Given the description of an element on the screen output the (x, y) to click on. 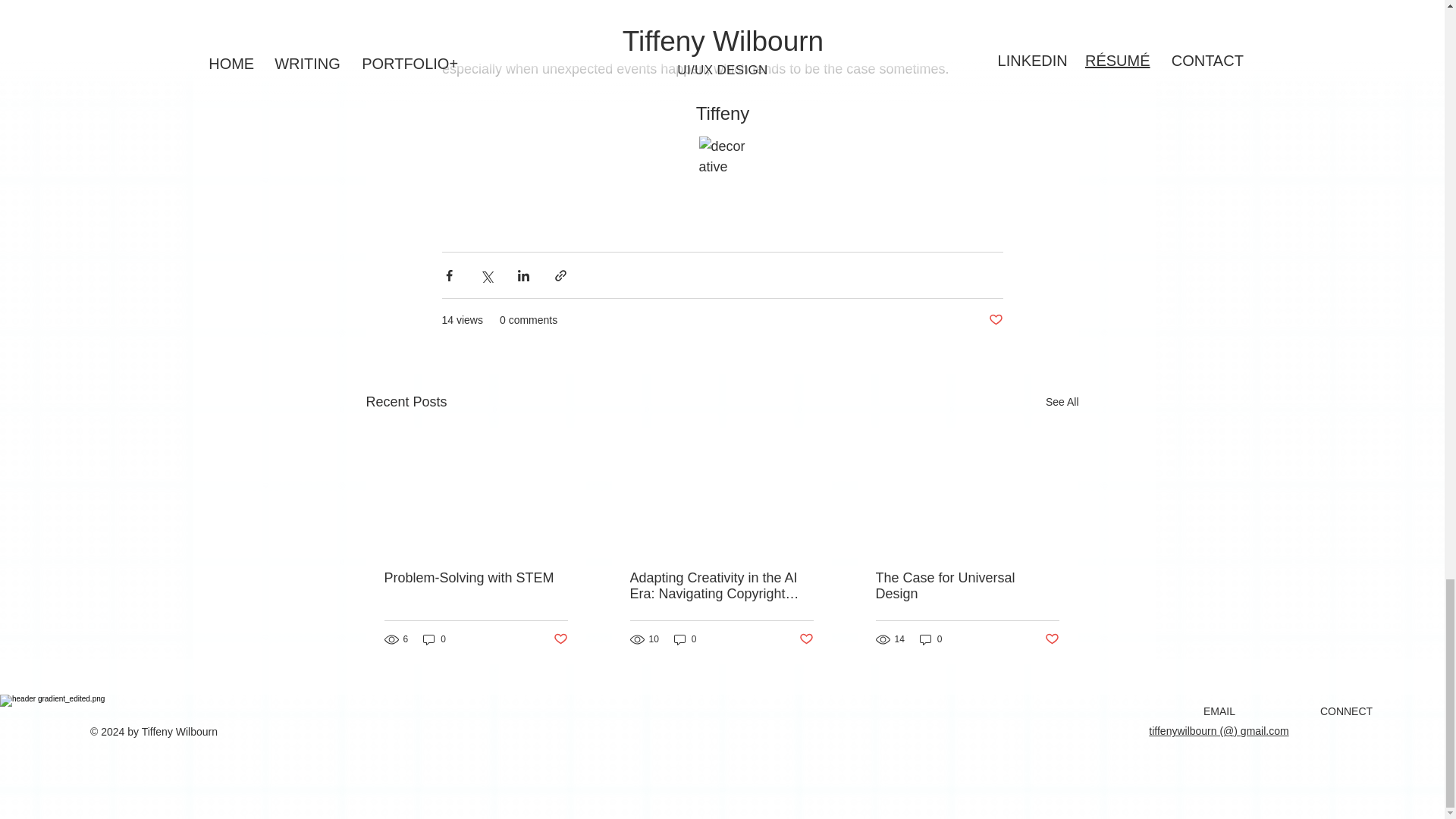
Post not marked as liked (806, 639)
The Case for Universal Design (966, 585)
See All (1061, 402)
Post not marked as liked (995, 320)
0 (434, 639)
0 (930, 639)
Post not marked as liked (560, 639)
Post not marked as liked (1052, 639)
Problem-Solving with STEM (475, 578)
